Given the description of an element on the screen output the (x, y) to click on. 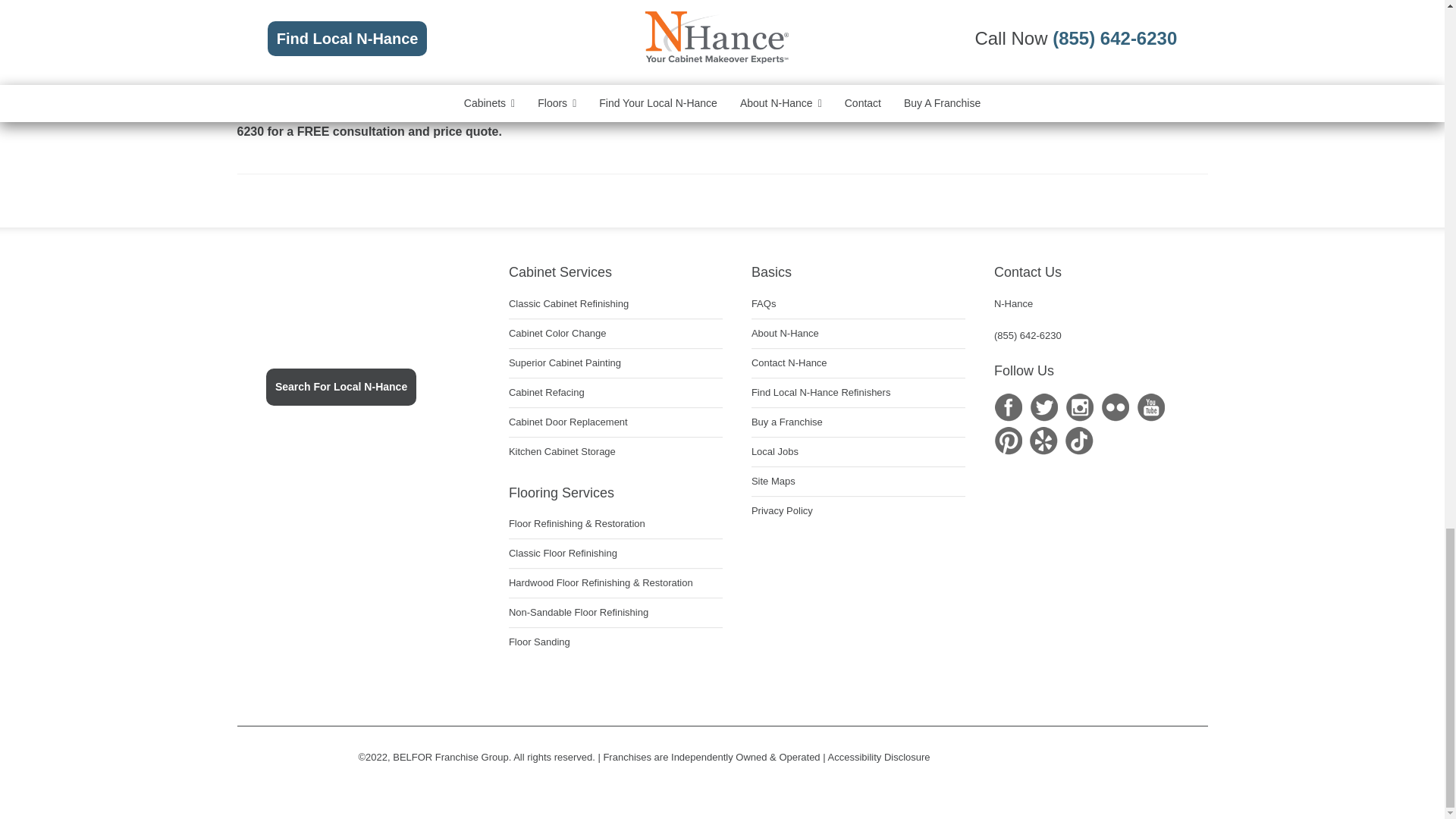
Search For Local N-Hance (341, 386)
modern cabinets (1020, 69)
Cabinet Color Change (557, 333)
Classic Cabinet Refinishing (568, 304)
Cabinet Door Replacement (567, 422)
Cabinet Refacing (546, 392)
Superior Cabinet Painting (564, 363)
